Given the description of an element on the screen output the (x, y) to click on. 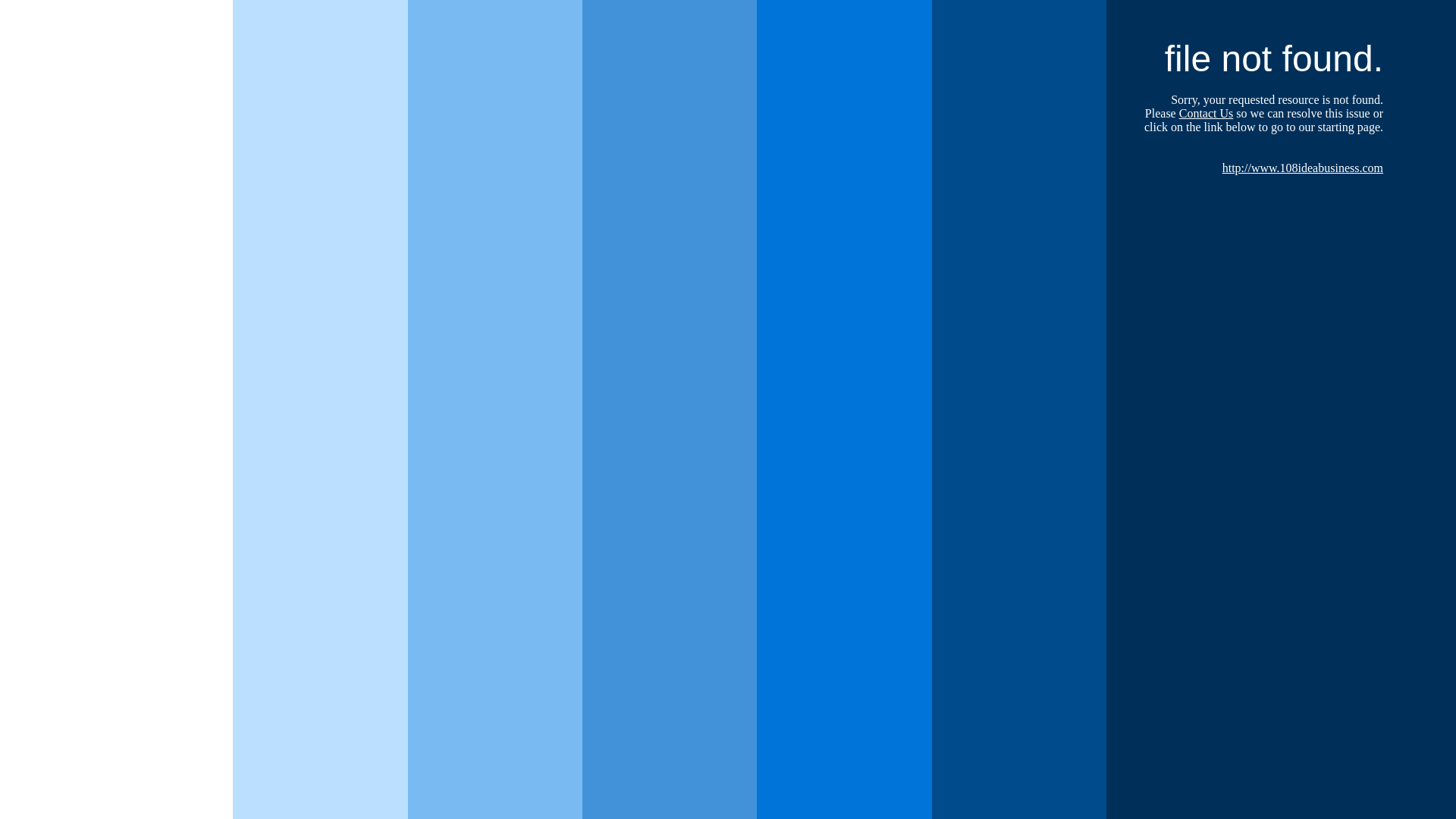
http://www.108ideabusiness.com Element type: text (1302, 167)
Contact Us Element type: text (1206, 112)
